Given the description of an element on the screen output the (x, y) to click on. 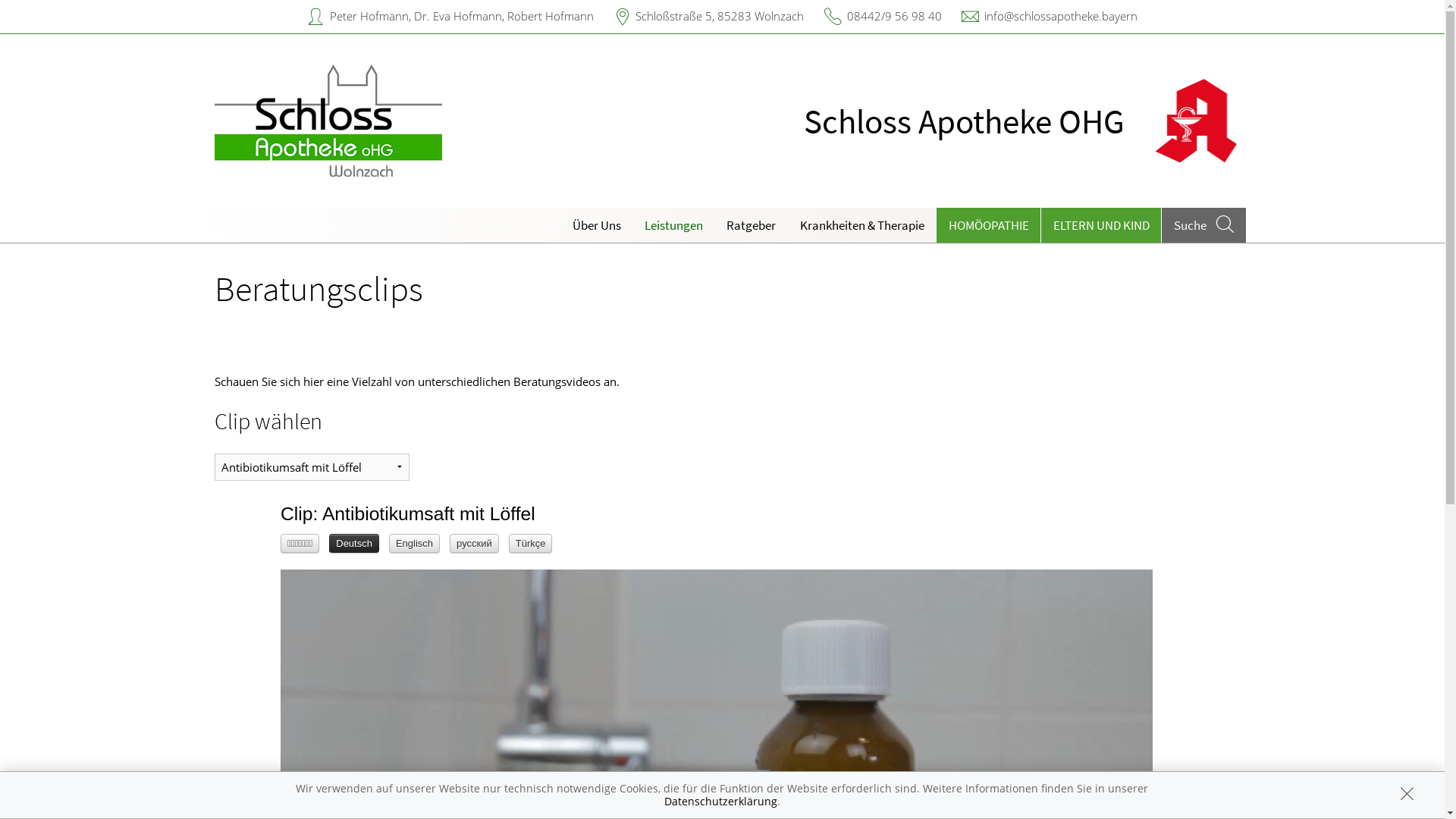
Leistungen Element type: text (674, 224)
ELTERN UND KIND Element type: text (1101, 224)
Reservierung Element type: text (397, 301)
Ratgeber Element type: text (751, 224)
Beipackzettelsuche Element type: text (613, 270)
Beratungsclips Element type: text (1046, 301)
Suche Element type: text (1203, 224)
Krankheiten & Therapie Element type: text (861, 224)
IGel-Check A-Z Element type: text (613, 301)
Schmerz- und Schlafmedizin Element type: text (613, 418)
Notdienst Element type: text (397, 333)
Schloss Apotheke OHG Element type: text (939, 120)
Neurologie Element type: text (613, 386)
Rheumatologische Erkrankungen Element type: text (1046, 333)
Laborwerte A-Z Element type: text (613, 333)
Unsere Apotheke Element type: text (636, 270)
Reiseimpfungen A-Z Element type: text (829, 270)
Frauenkrankheiten Element type: text (613, 449)
Psychische Erkrankungen Element type: text (397, 449)
08442/9 56 98 40 Element type: text (893, 15)
Blut, Krebs und Infektionen Element type: text (397, 386)
Heilpflanzen A-Z Element type: text (1046, 270)
info@schlossapotheke.bayern Element type: text (1060, 15)
